Given the description of an element on the screen output the (x, y) to click on. 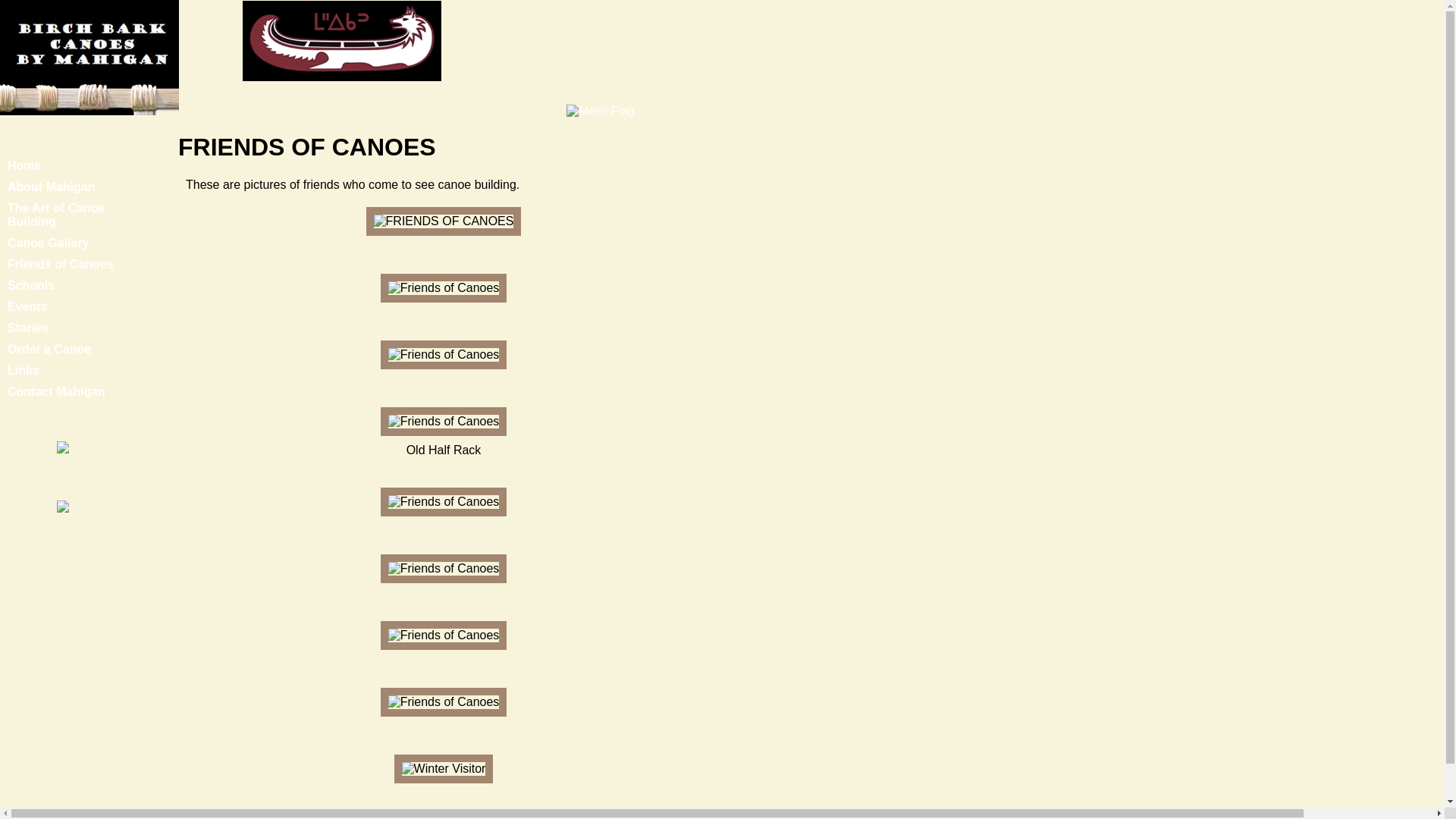
The Art of Canoe Building Element type: text (55, 214)
Order a Canoe Element type: text (49, 348)
Home Element type: text (23, 165)
About Mahigan Element type: text (51, 186)
Canoe Gallery Element type: text (48, 242)
Contact Mahigan Element type: text (56, 391)
Stories Element type: text (27, 327)
Events Element type: text (27, 306)
Friends of Canoes Element type: text (60, 263)
Metis Flag Element type: hover (600, 111)
Schools Element type: text (30, 285)
Links Element type: text (23, 370)
